Given the description of an element on the screen output the (x, y) to click on. 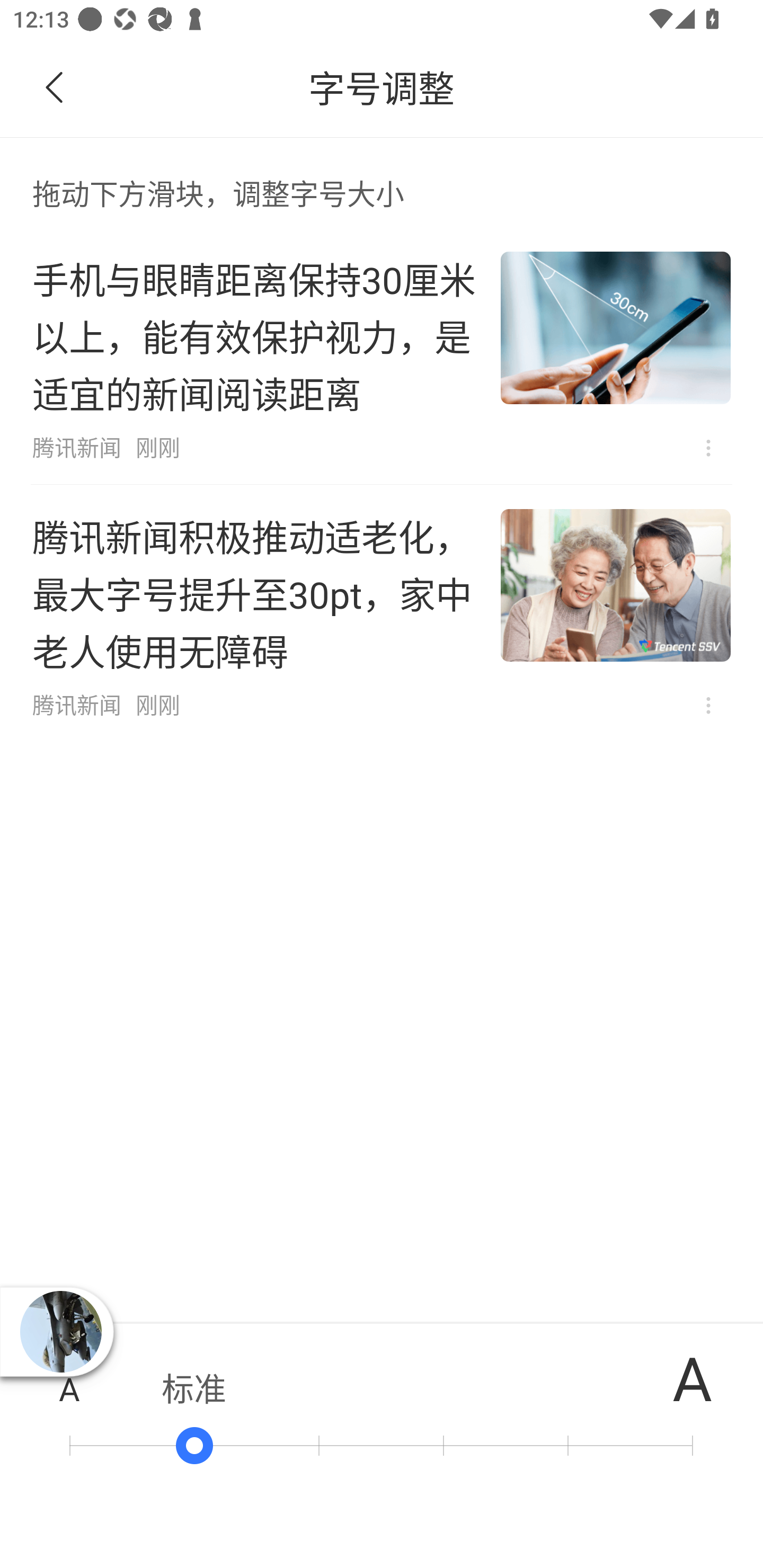
 返回 (54, 87)
手机与眼睛距离保持30厘米以上，能有效保护视力，是适宜的新闻阅读距离 腾讯新闻 刚刚  不感兴趣 (381, 355)
 不感兴趣 (707, 448)
腾讯新闻积极推动适老化，最大字号提升至30pt，家中老人使用无障碍 腾讯新闻 刚刚  不感兴趣 (381, 612)
 不感兴趣 (707, 705)
播放器 (60, 1331)
